Given the description of an element on the screen output the (x, y) to click on. 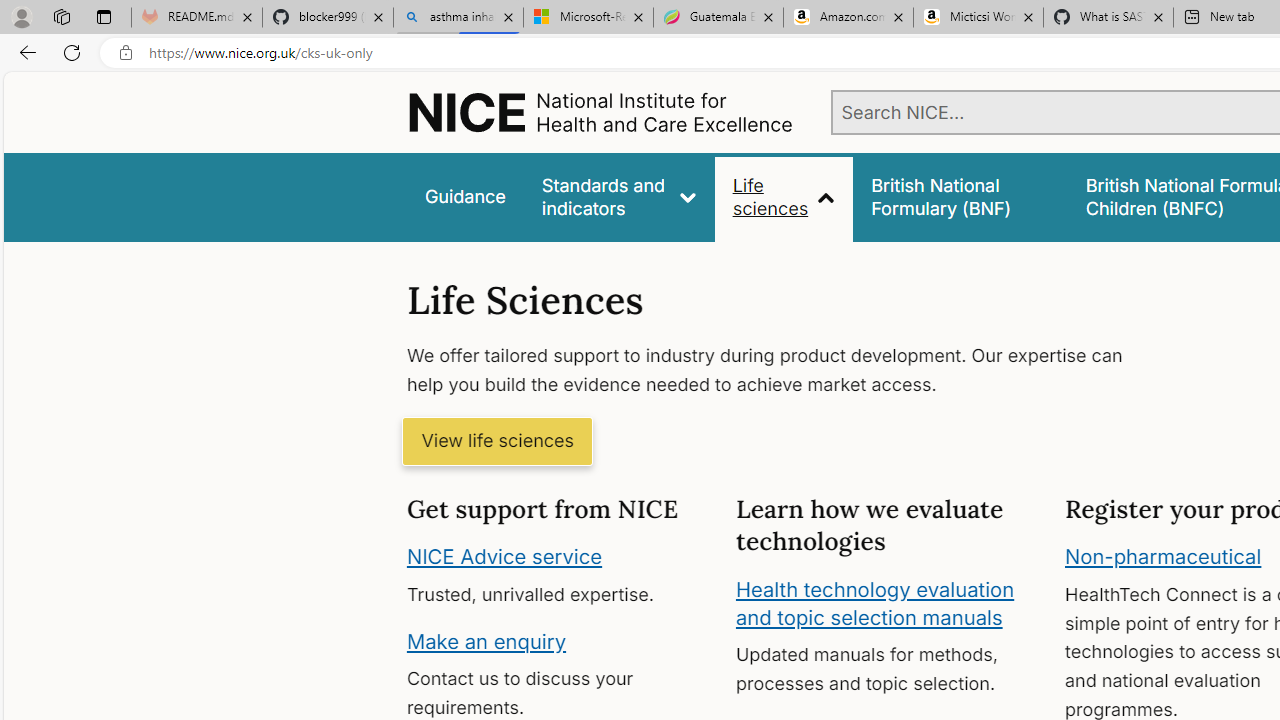
NICE Advice service (503, 557)
